Given the description of an element on the screen output the (x, y) to click on. 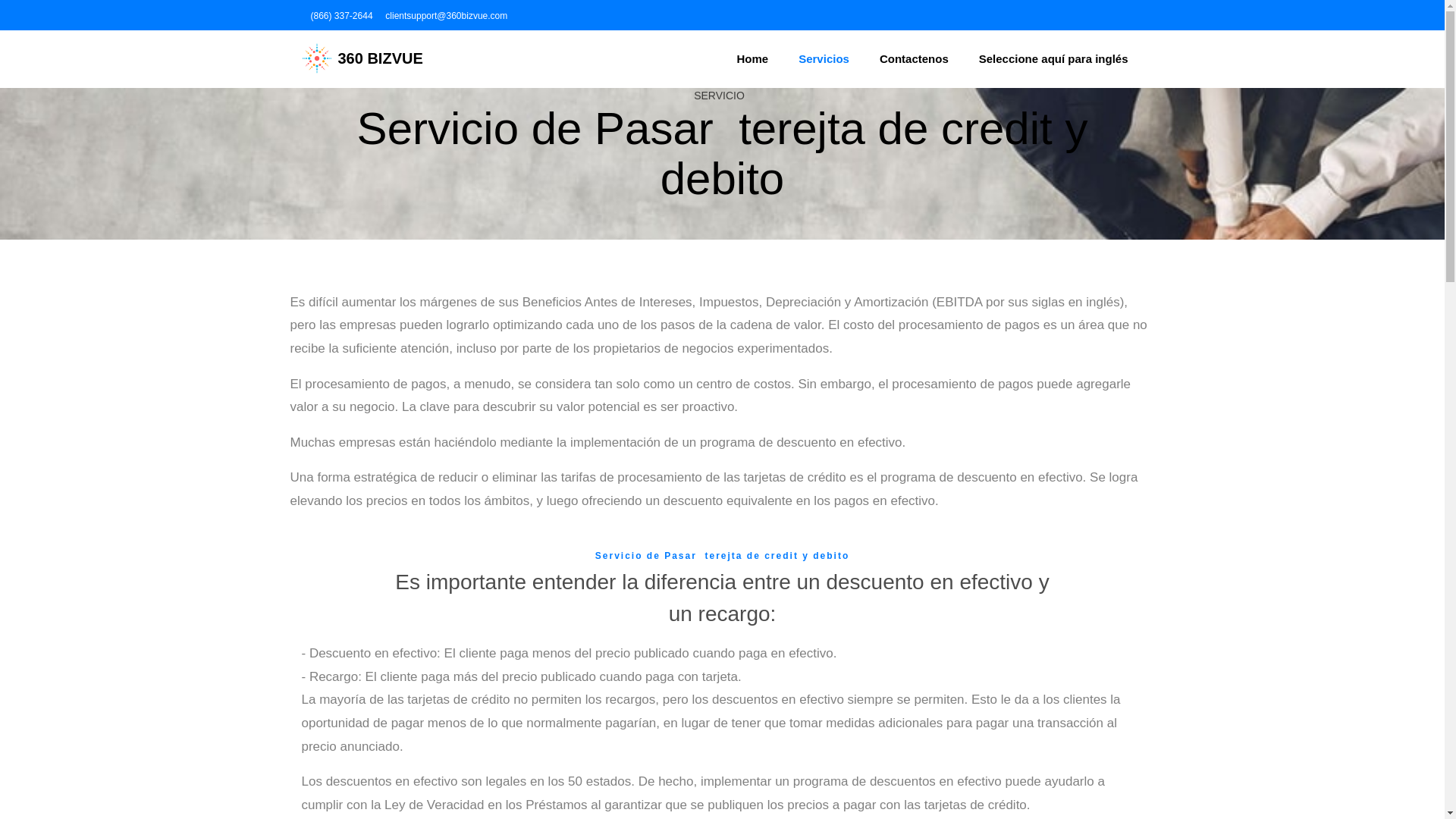
Linkedin Element type: text (1126, 15)
SERVICIO Element type: text (718, 95)
Home Element type: text (752, 58)
Contactenos Element type: text (913, 58)
clientsupport@360bizvue.com Element type: text (444, 15)
Servicios Element type: text (823, 58)
360 BIZVUE Element type: text (362, 58)
(866) 337-2644 Element type: text (340, 15)
